Given the description of an element on the screen output the (x, y) to click on. 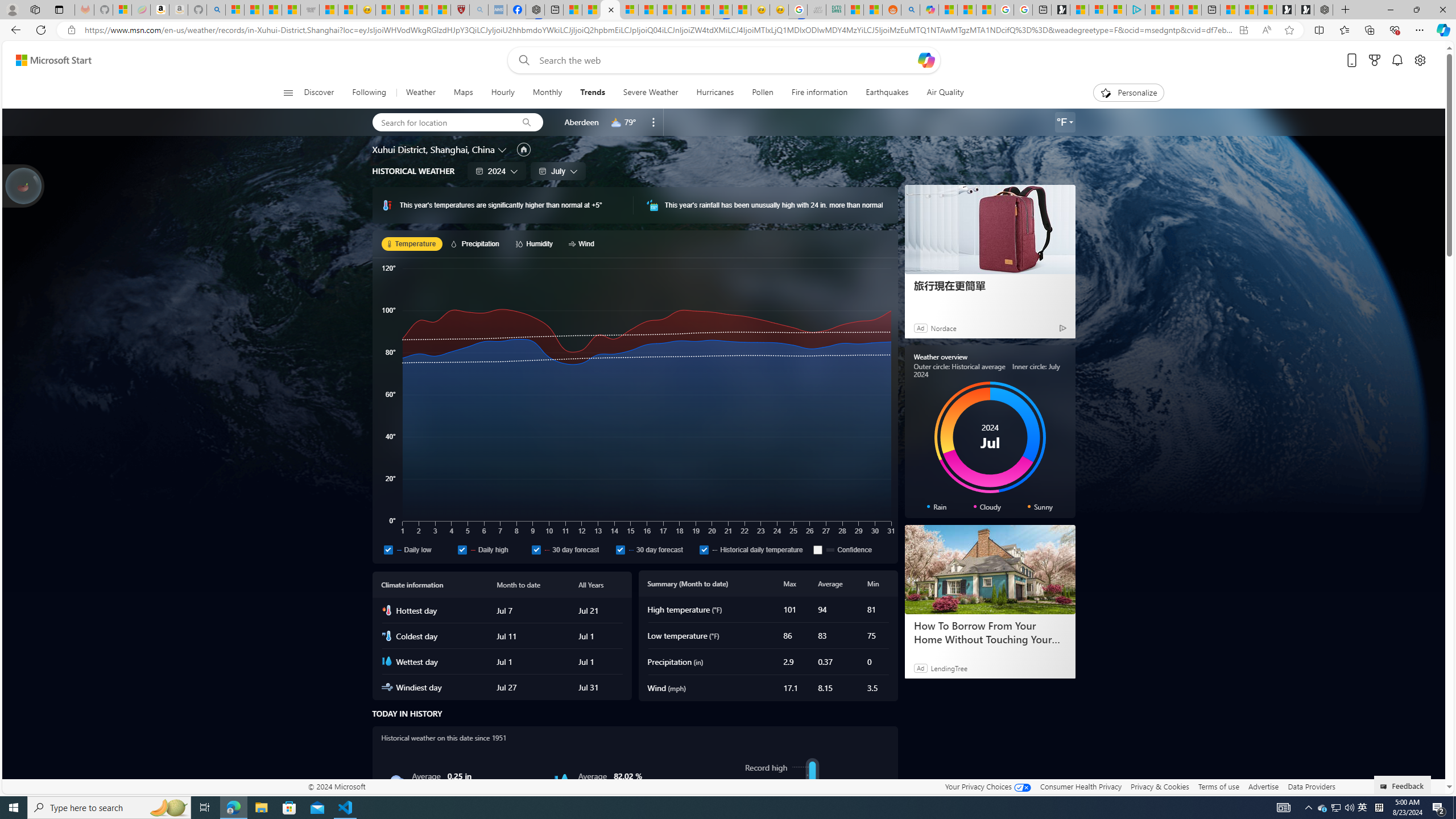
Microsoft Copilot in Bing (929, 9)
Privacy & Cookies (1160, 786)
Pollen (762, 92)
